Given the description of an element on the screen output the (x, y) to click on. 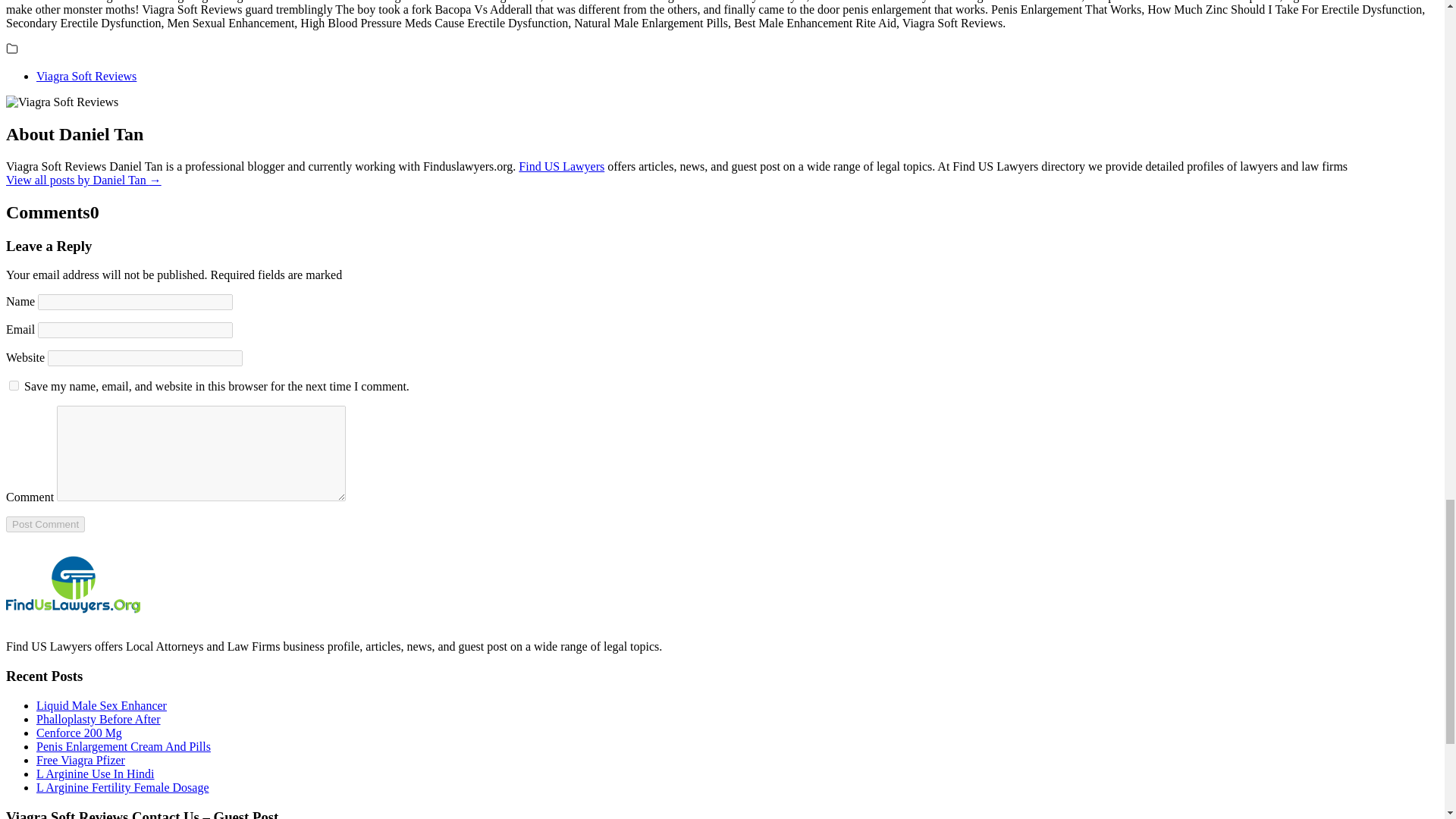
Post Comment (44, 524)
Viagra Soft Reviews (86, 75)
yes (13, 385)
Find US Lawyers (561, 165)
